Given the description of an element on the screen output the (x, y) to click on. 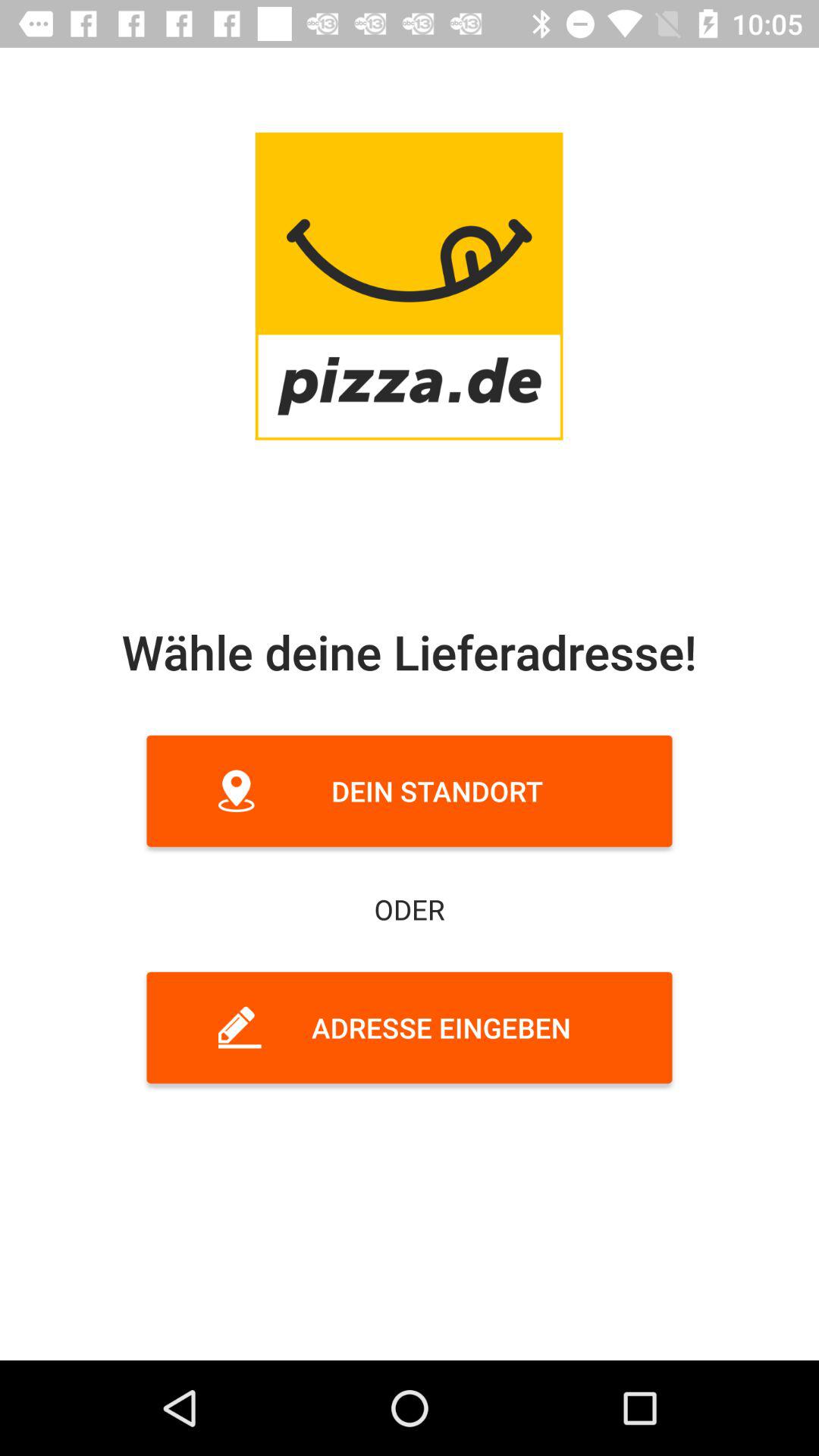
press the item above the oder (409, 790)
